Given the description of an element on the screen output the (x, y) to click on. 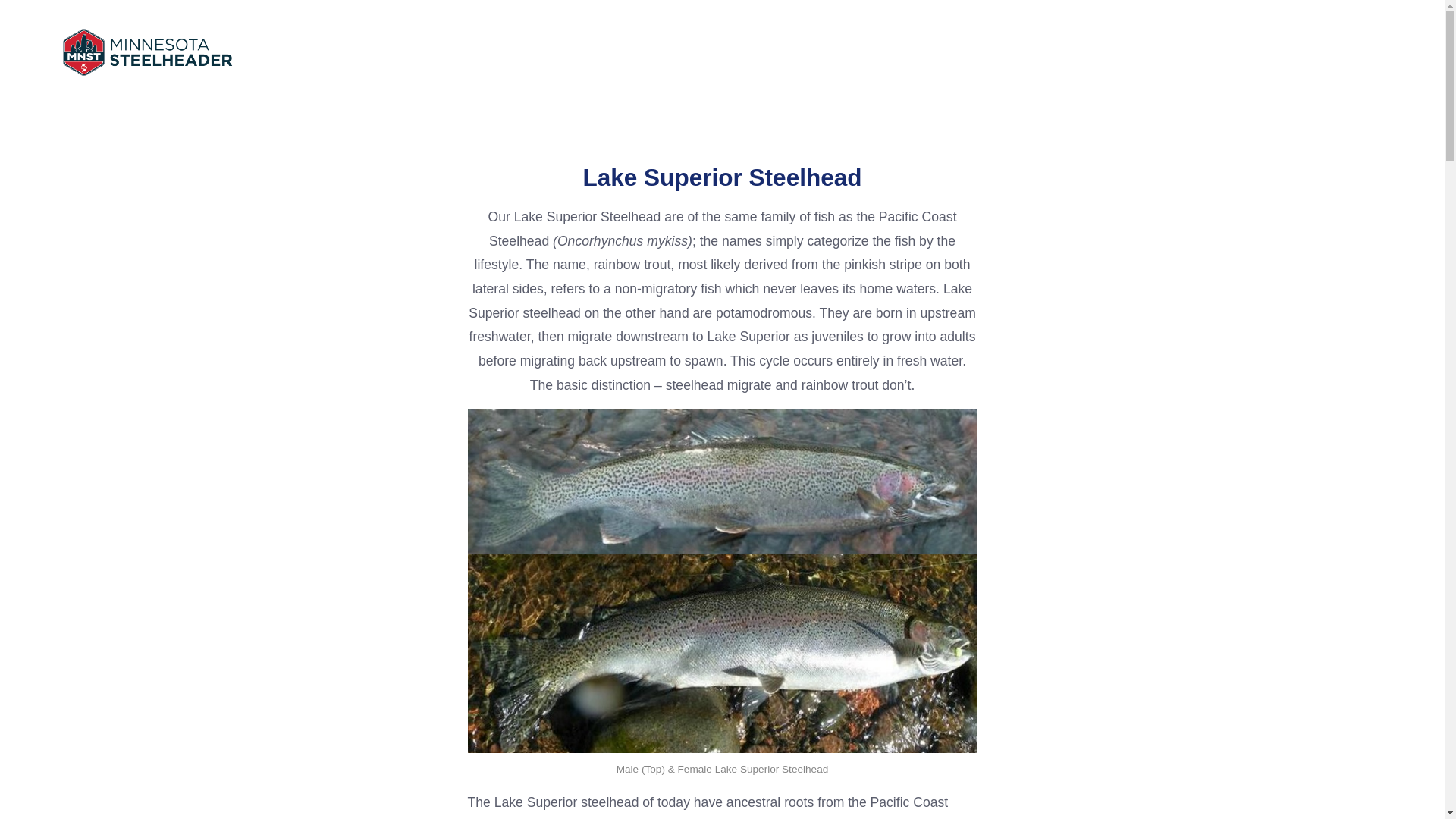
MNST Blog (1204, 52)
Search Toggle (1372, 51)
Contact (1297, 52)
About (675, 52)
Experience (772, 52)
Fish (1050, 52)
Rivers (973, 52)
Research (880, 52)
Home (599, 52)
Tools (1119, 52)
